Given the description of an element on the screen output the (x, y) to click on. 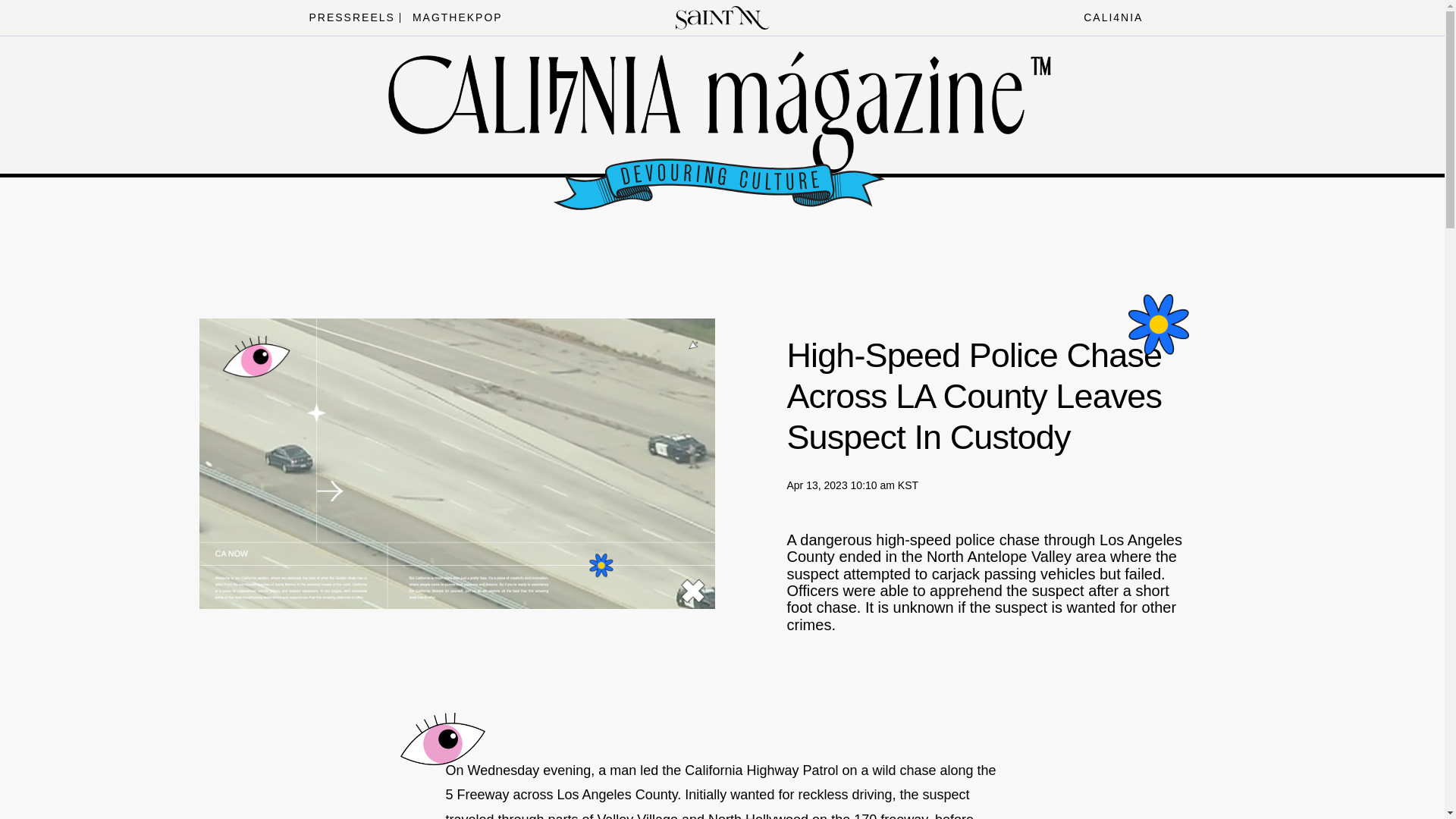
CALI4NIA (1108, 17)
PRESSREELS (347, 17)
MAGTHEKPOP (453, 17)
